Given the description of an element on the screen output the (x, y) to click on. 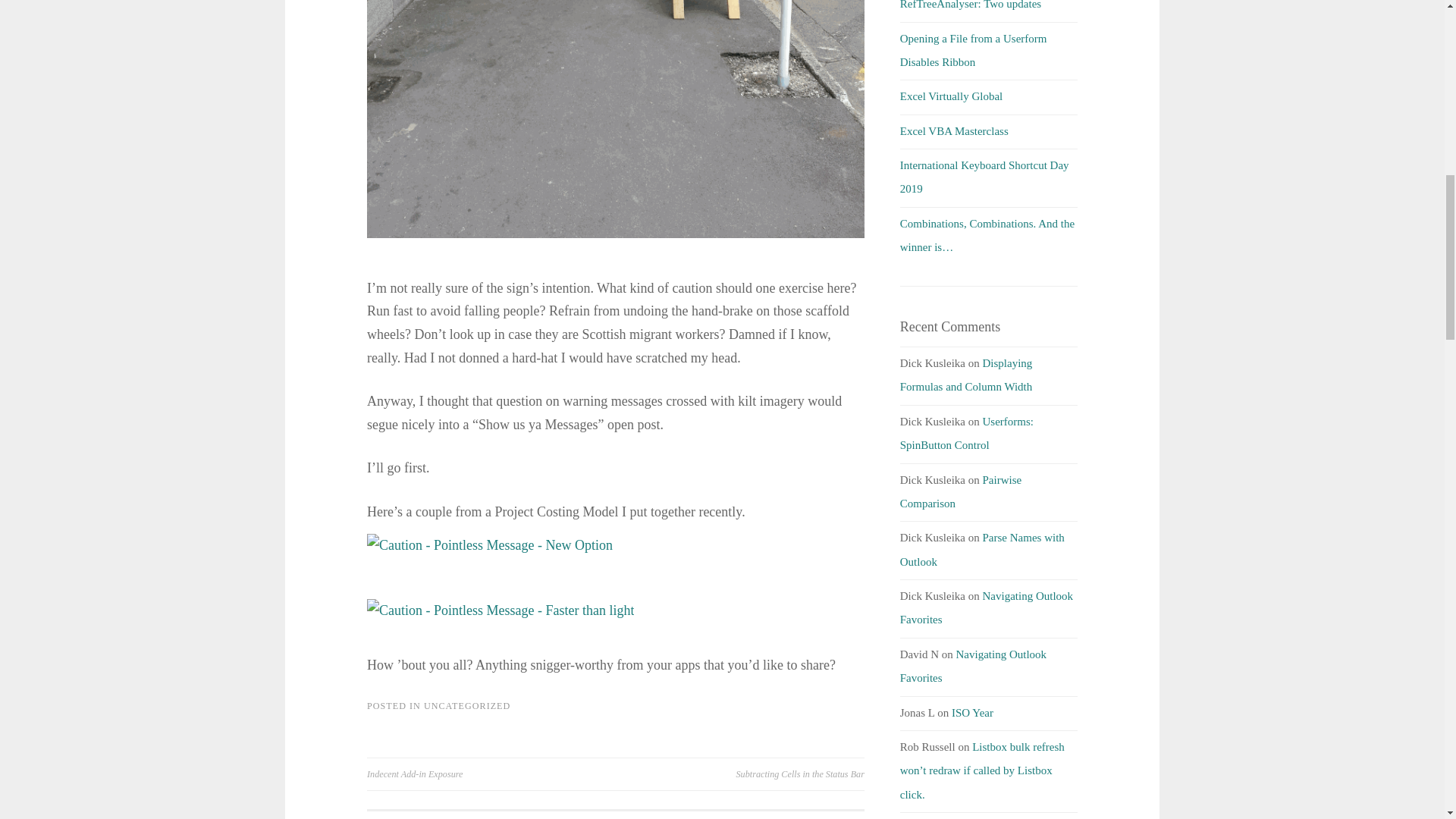
Subtracting Cells in the Status Bar (739, 774)
Excel Virtually Global (951, 96)
Opening a File from a Userform Disables Ribbon (972, 49)
Userforms: SpinButton Control (966, 433)
Excel VBA Masterclass (954, 131)
International Keyboard Shortcut Day 2019 (983, 176)
Pairwise Comparison (960, 490)
Displaying Formulas and Column Width (965, 375)
UNCATEGORIZED (467, 706)
Indecent Add-in Exposure (490, 774)
